Given the description of an element on the screen output the (x, y) to click on. 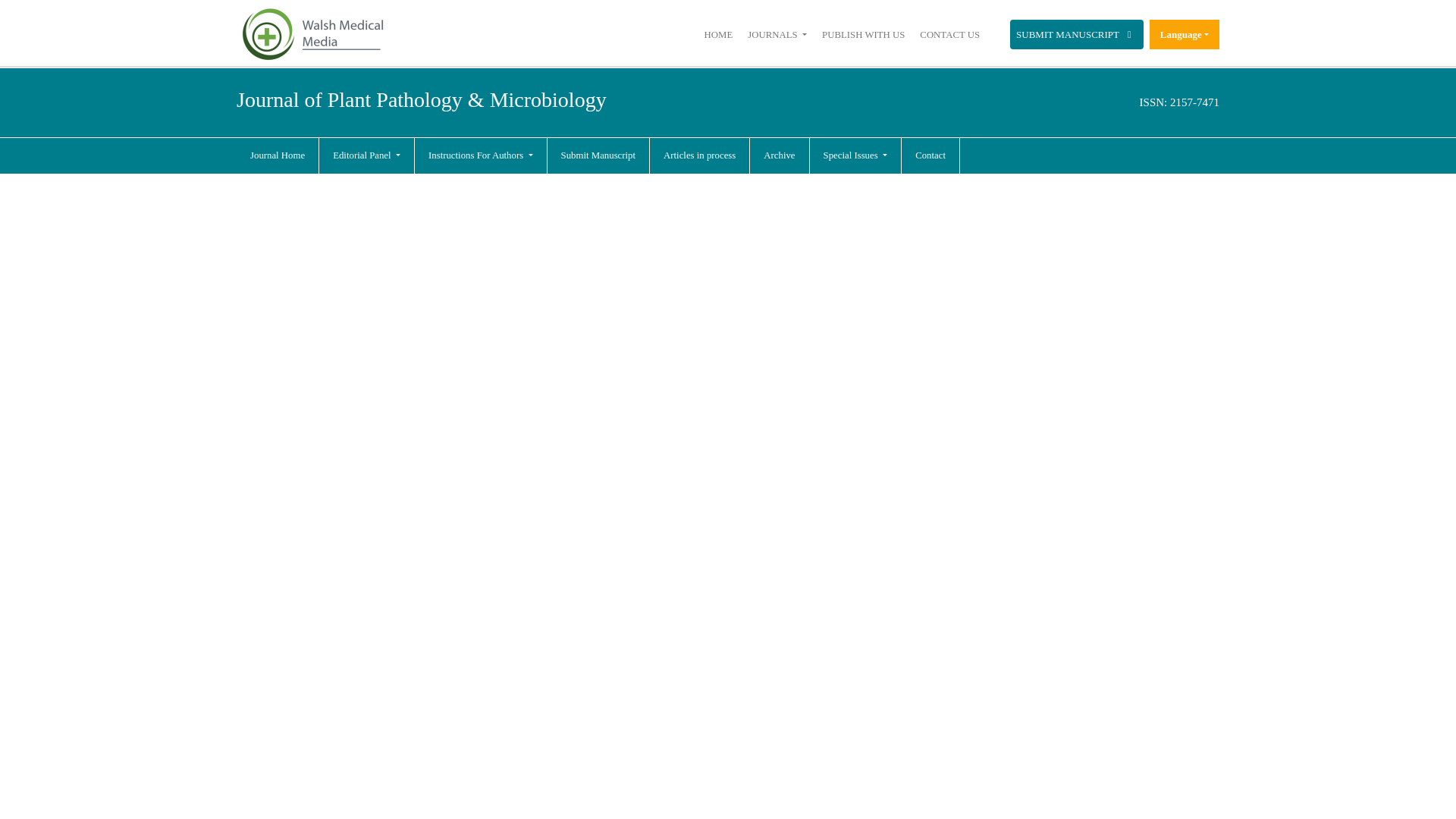
CONTACT US (949, 34)
PUBLISH WITH US (863, 34)
Language (1185, 34)
Walsh Medical Media (311, 34)
Instructions For Authors (480, 155)
Click here (277, 155)
Click here (863, 34)
HOME (718, 34)
Archive (778, 155)
Click here (949, 34)
